Given the description of an element on the screen output the (x, y) to click on. 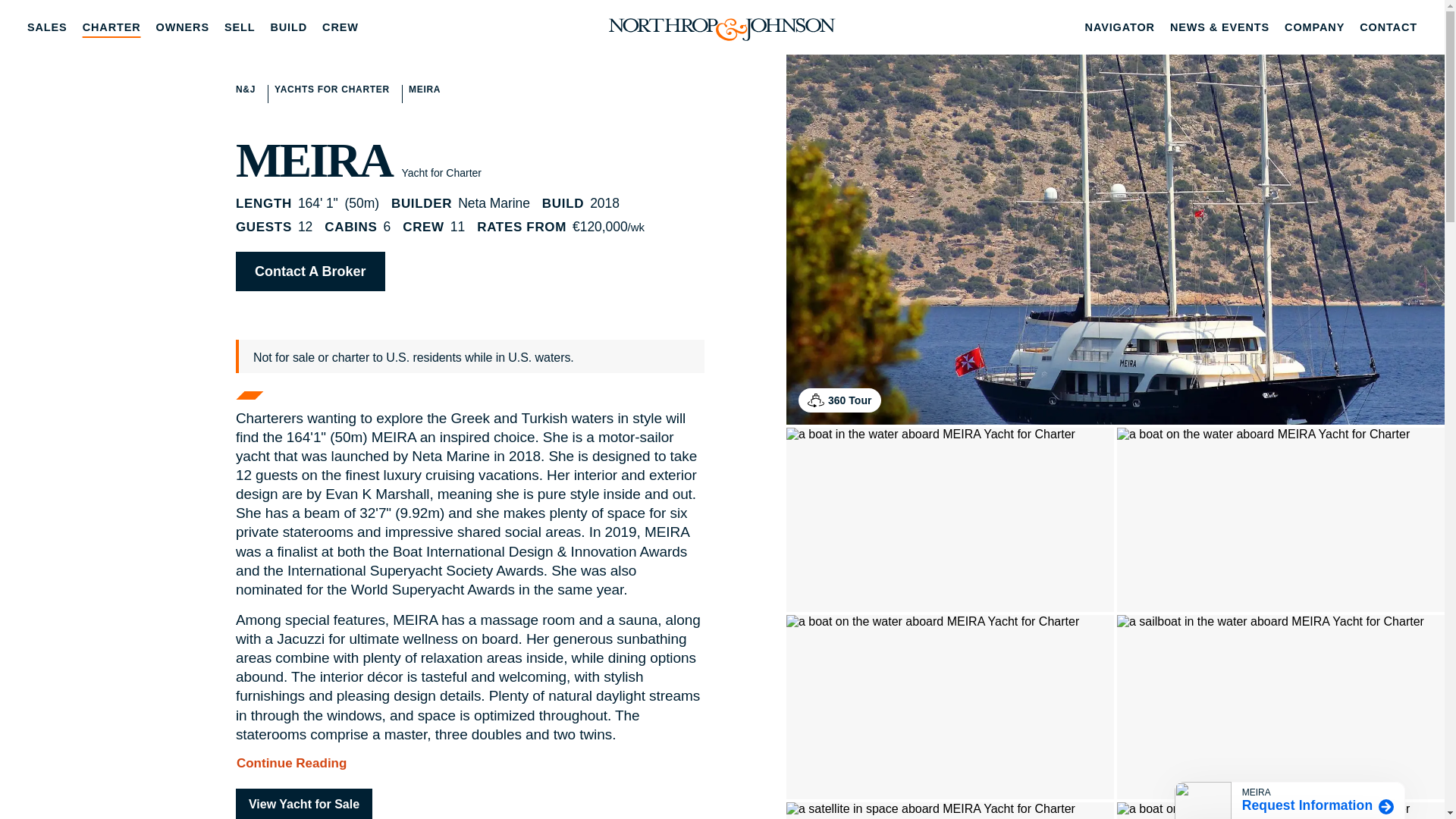
SALES (47, 27)
CREW (340, 27)
Northrop and Johnson (721, 26)
OWNERS (182, 27)
CHARTER (111, 27)
NAVIGATOR (1119, 27)
BUILD (288, 27)
